Given the description of an element on the screen output the (x, y) to click on. 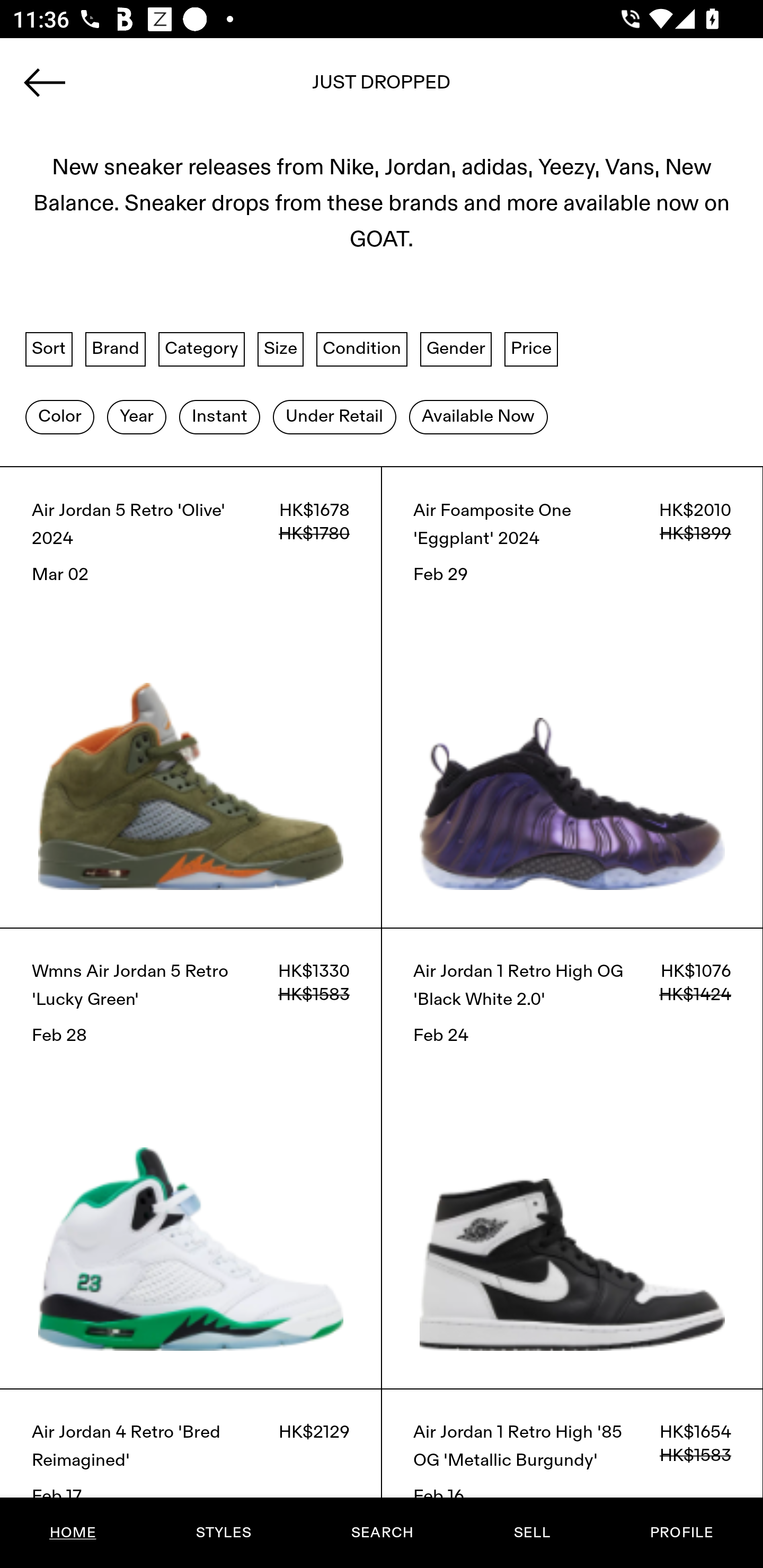
sandals (381, 88)
Sort (48, 348)
Brand (115, 348)
Category (201, 348)
Size (280, 348)
Condition (361, 348)
Gender (455, 348)
Price (530, 348)
Color (59, 416)
Year (136, 416)
Instant (219, 416)
Under Retail (334, 416)
Available Now (477, 416)
HOME (72, 1532)
STYLES (222, 1532)
SEARCH (381, 1532)
SELL (531, 1532)
PROFILE (681, 1532)
